Given the description of an element on the screen output the (x, y) to click on. 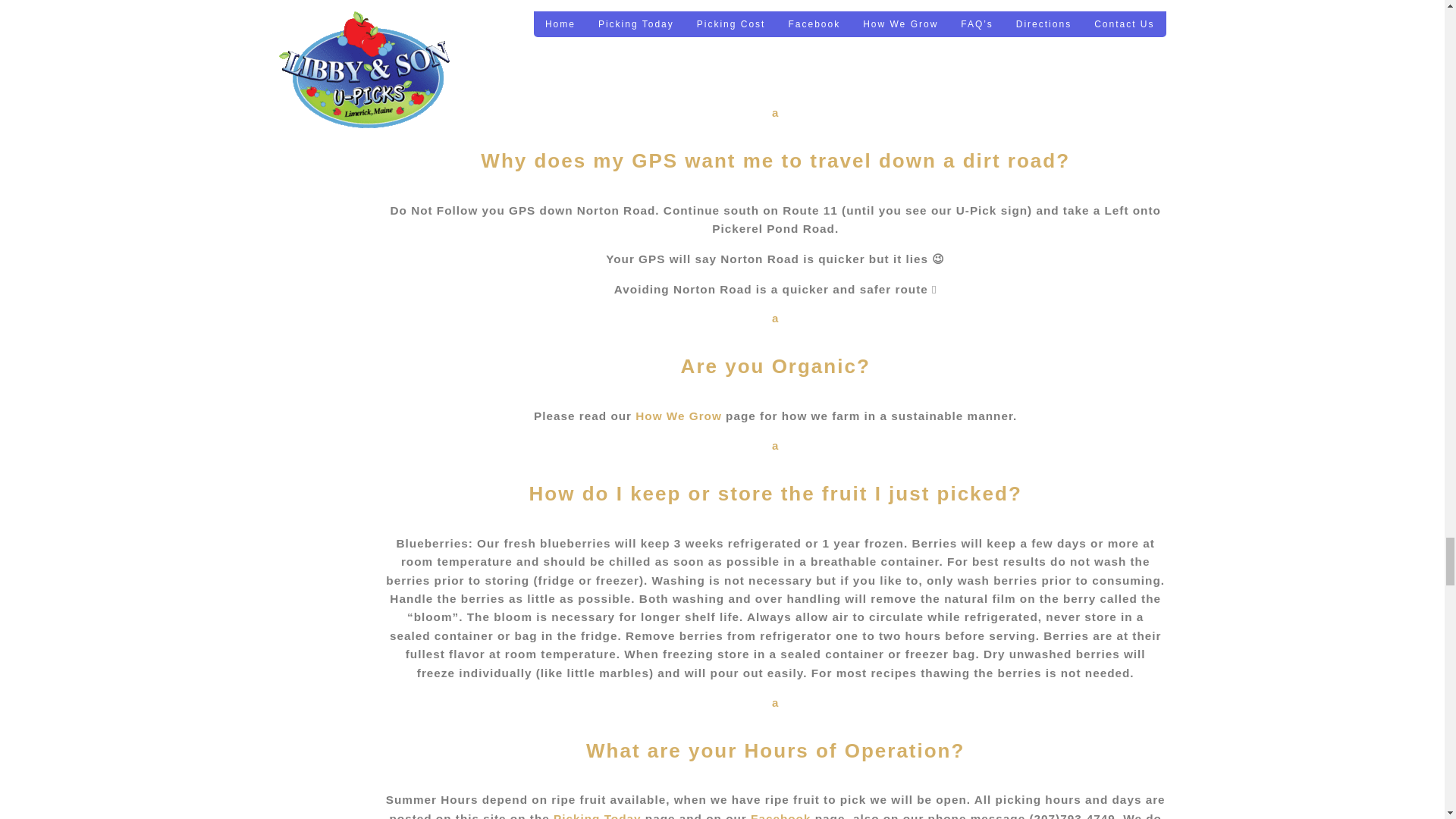
Facebook (780, 815)
Picking Today (775, 472)
How We Grow (775, 345)
